Given the description of an element on the screen output the (x, y) to click on. 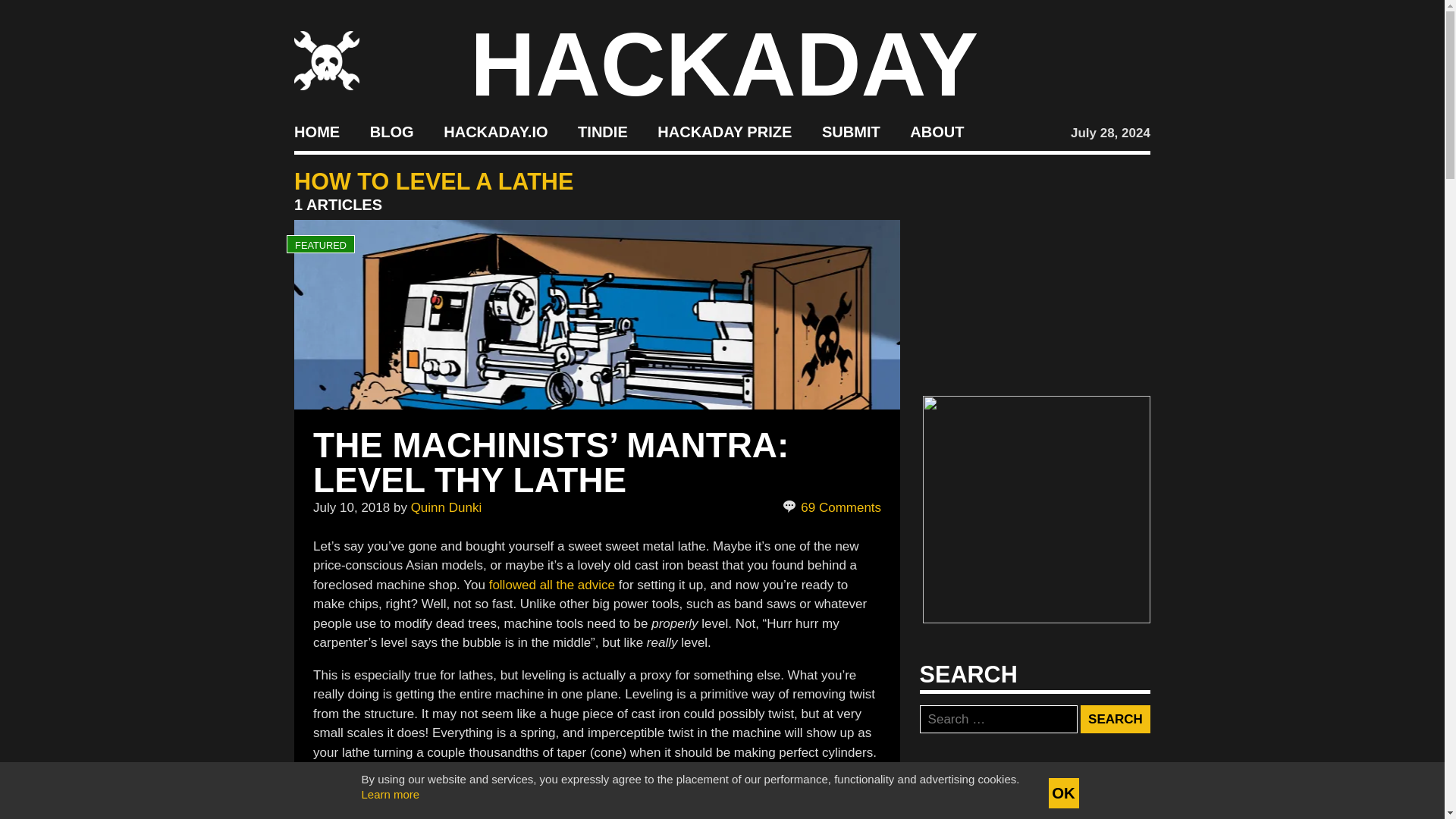
Slider (482, 817)
Search (1115, 719)
Quinn Dunki (445, 507)
July 10, 2018 - 7:01 am (351, 507)
Skills (444, 817)
HACKADAY (724, 63)
ABOUT (936, 131)
HACKADAY.IO (495, 131)
BLOG (391, 131)
Build Something that Matters (725, 131)
Featured (396, 817)
Posts by Quinn Dunki (445, 507)
July 10, 2018 (351, 507)
69 Comments (832, 506)
TINDIE (602, 131)
